Given the description of an element on the screen output the (x, y) to click on. 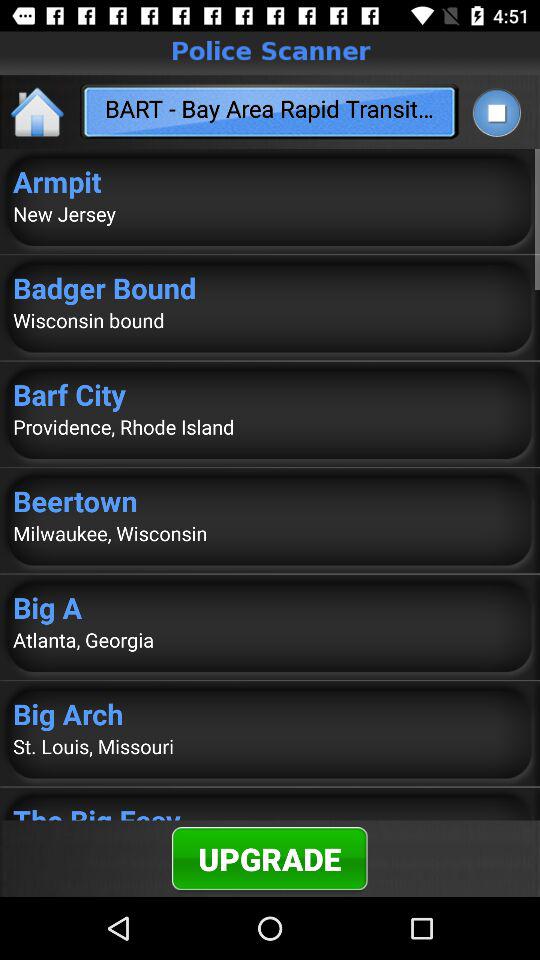
home button (38, 111)
